Given the description of an element on the screen output the (x, y) to click on. 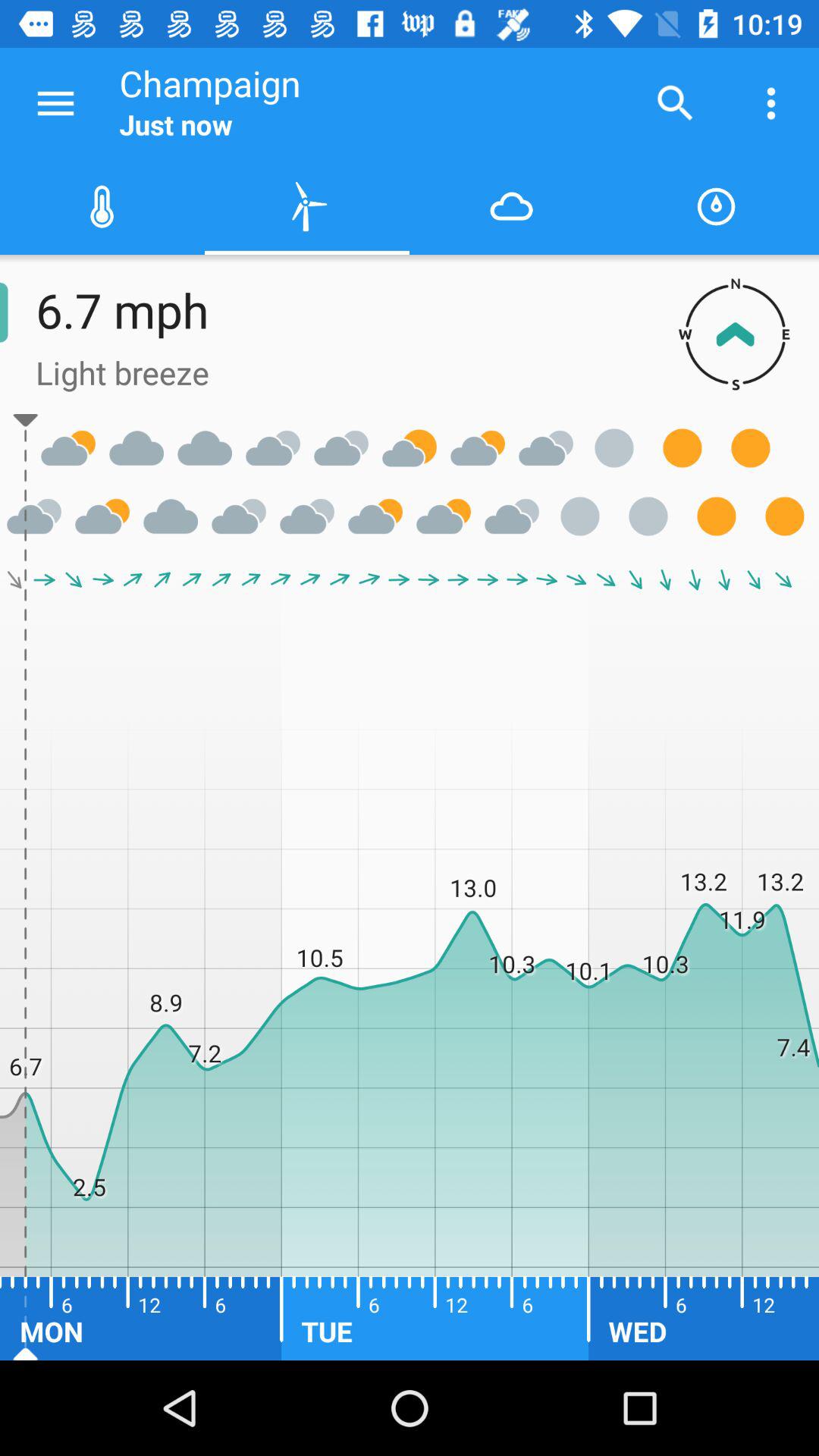
select the icon next to champaign item (55, 103)
